Given the description of an element on the screen output the (x, y) to click on. 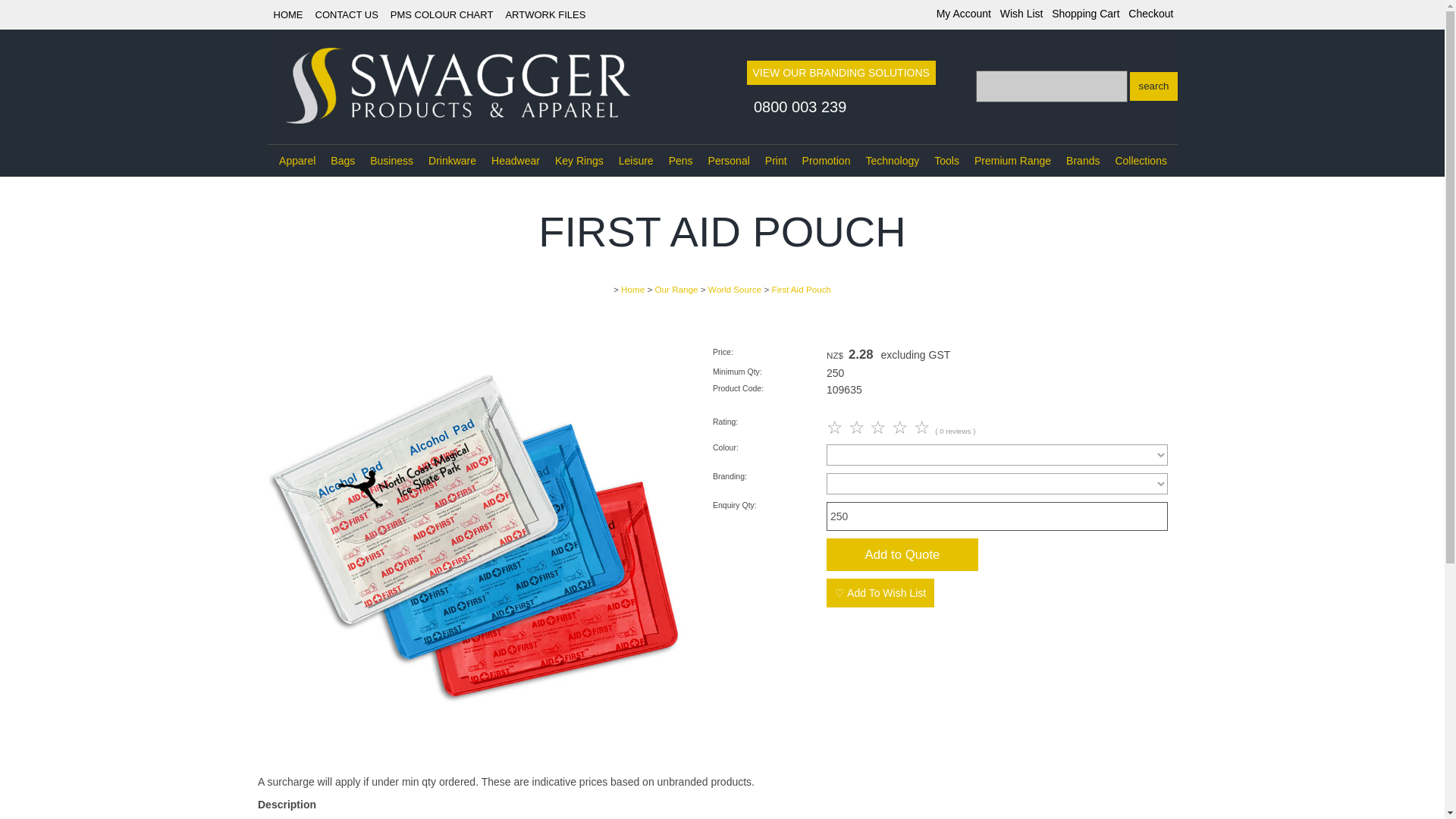
Checkout (1150, 13)
search (1152, 86)
Apparel (297, 160)
Submit Product Review (880, 426)
Wish List (1021, 13)
Checkout (1150, 13)
ARTWORK FILES (545, 14)
PMS COLOUR CHART (441, 14)
My Account (963, 13)
Wish List (1021, 13)
